Given the description of an element on the screen output the (x, y) to click on. 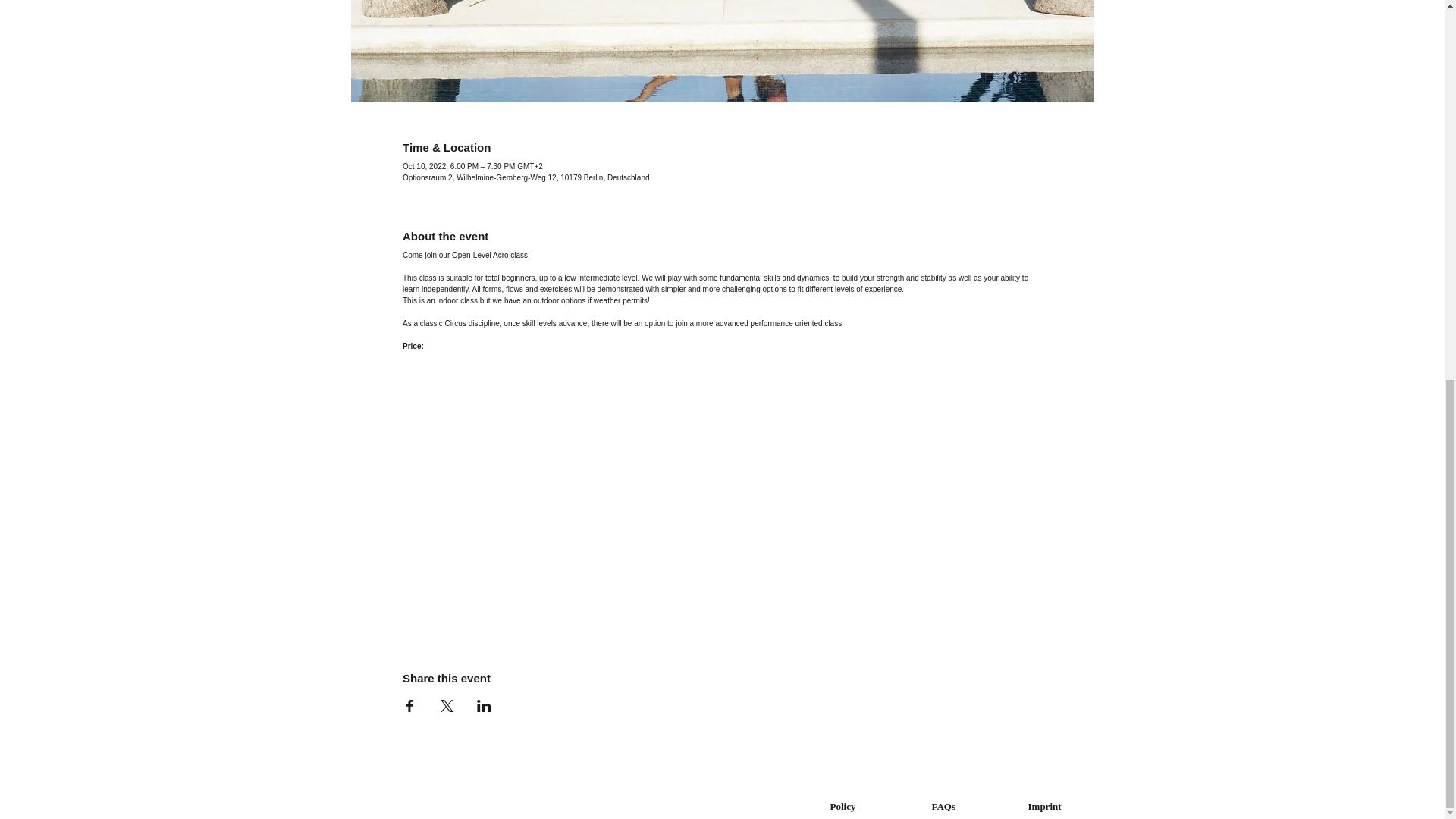
Imprint (1044, 806)
Policy (842, 806)
FAQs (943, 806)
